Given the description of an element on the screen output the (x, y) to click on. 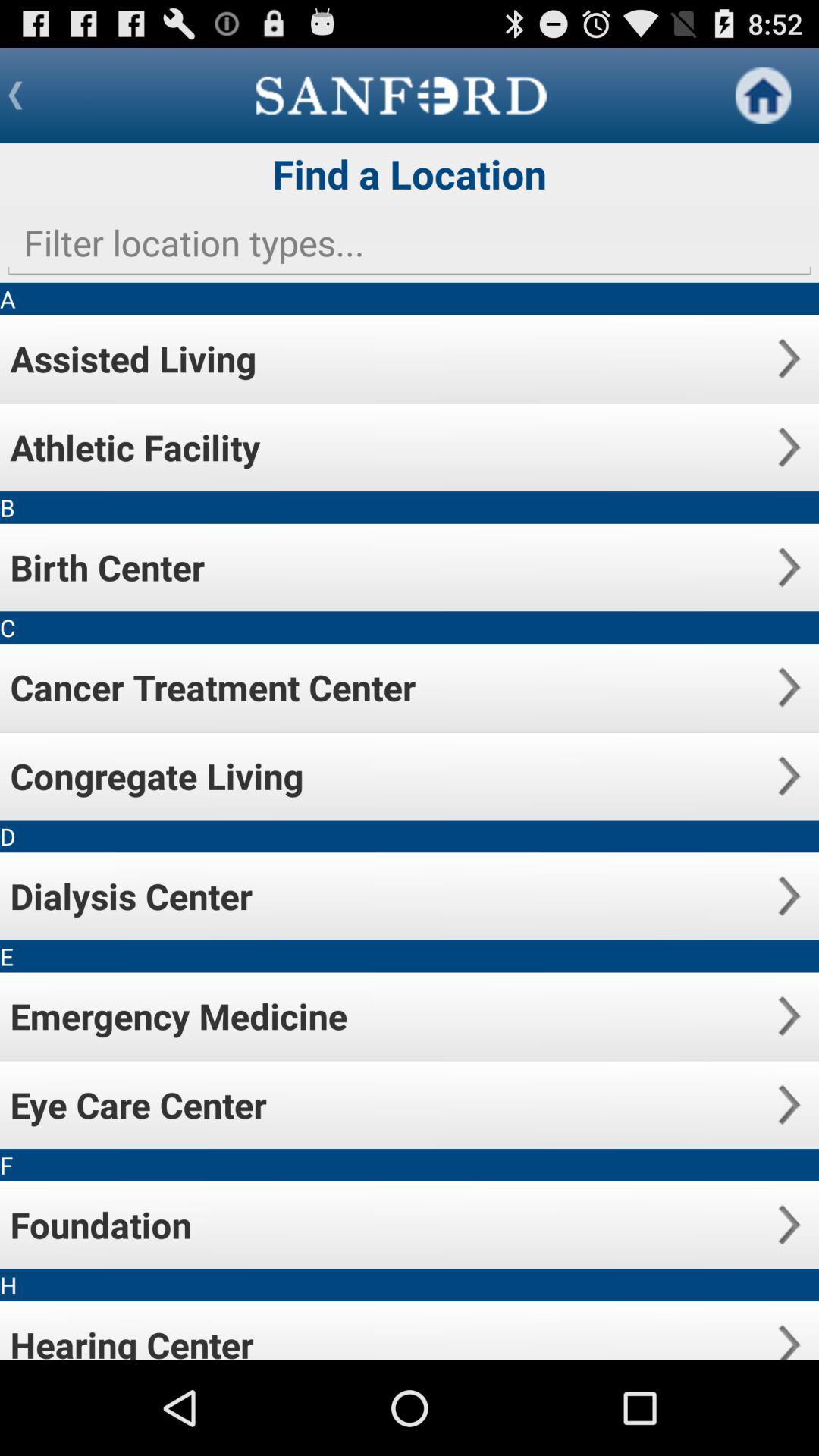
click on dialysis center (789, 896)
